Given the description of an element on the screen output the (x, y) to click on. 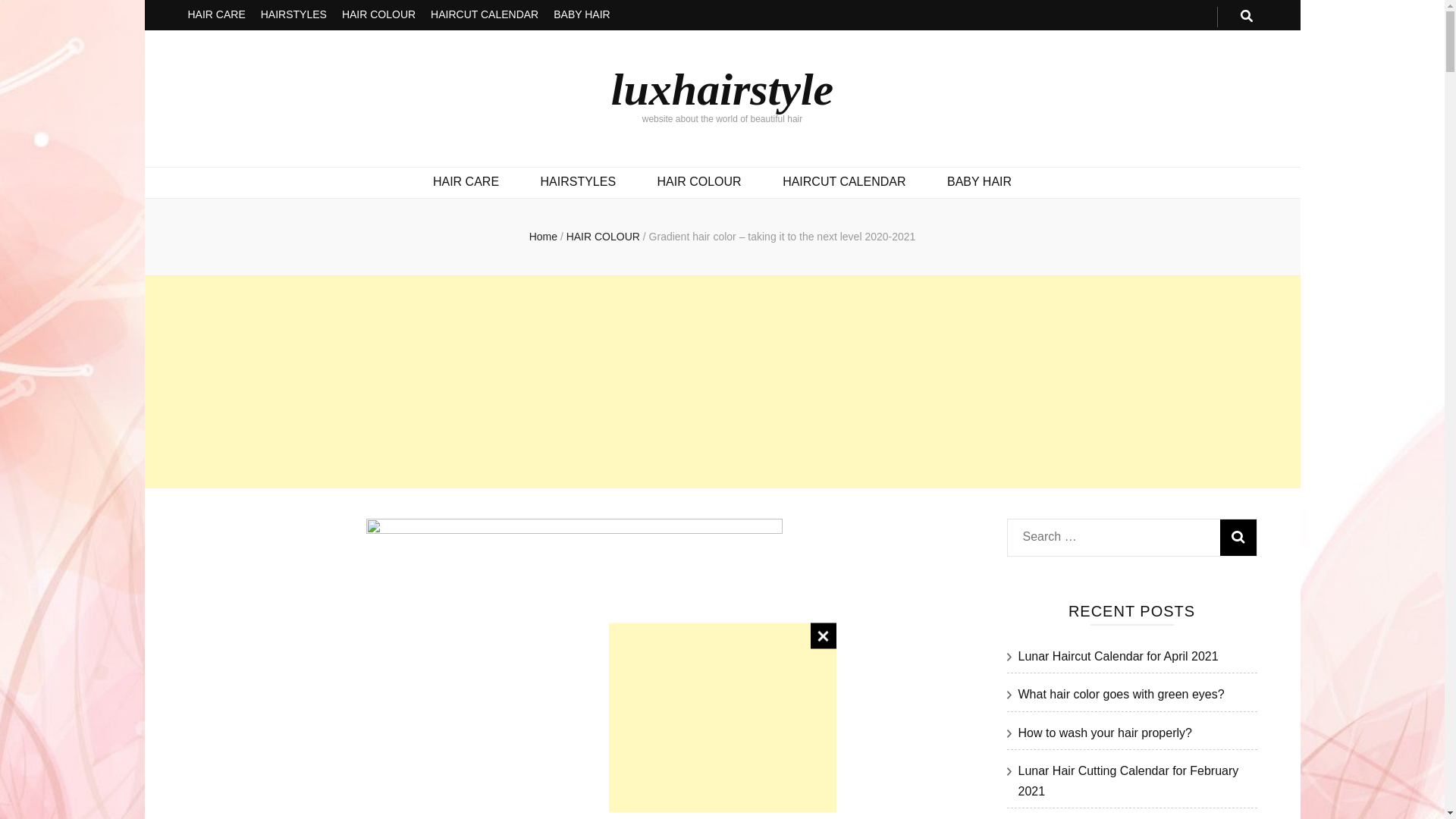
What hair color goes with green eyes? (1120, 694)
HAIR COLOUR (604, 236)
HAIRSTYLES (577, 181)
HAIRCUT CALENDAR (844, 181)
HAIR CARE (216, 15)
luxhairstyle (721, 89)
HAIR COLOUR (378, 15)
How to wash your hair properly? (1104, 732)
Search (1237, 537)
Home (543, 236)
HAIRSTYLES (293, 15)
HAIRCUT CALENDAR (484, 15)
Lunar Hair Cutting Calendar for February 2021 (1128, 780)
HAIR COLOUR (699, 181)
Advertisement (721, 717)
